Given the description of an element on the screen output the (x, y) to click on. 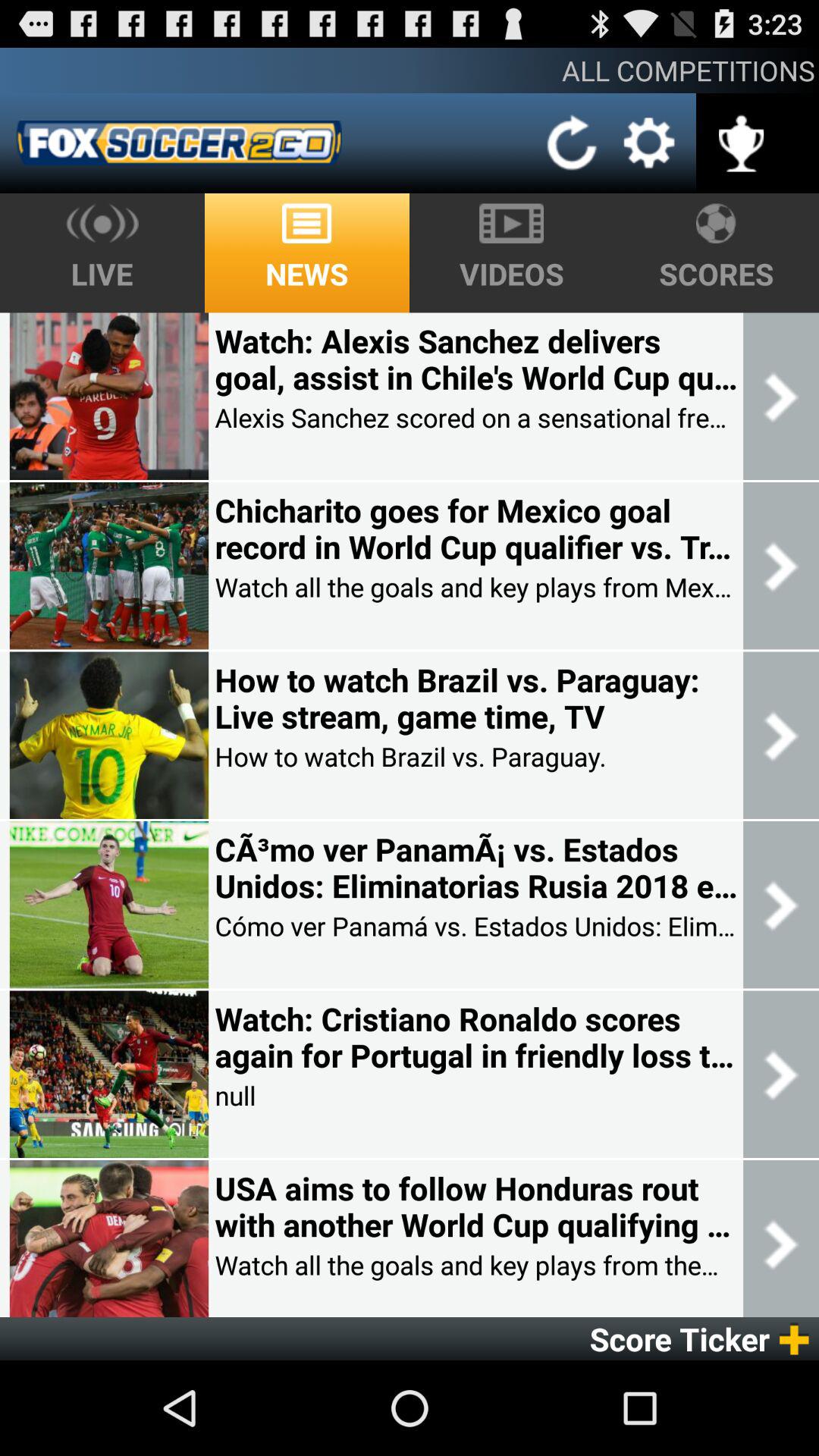
open app below all competitions app (572, 143)
